Given the description of an element on the screen output the (x, y) to click on. 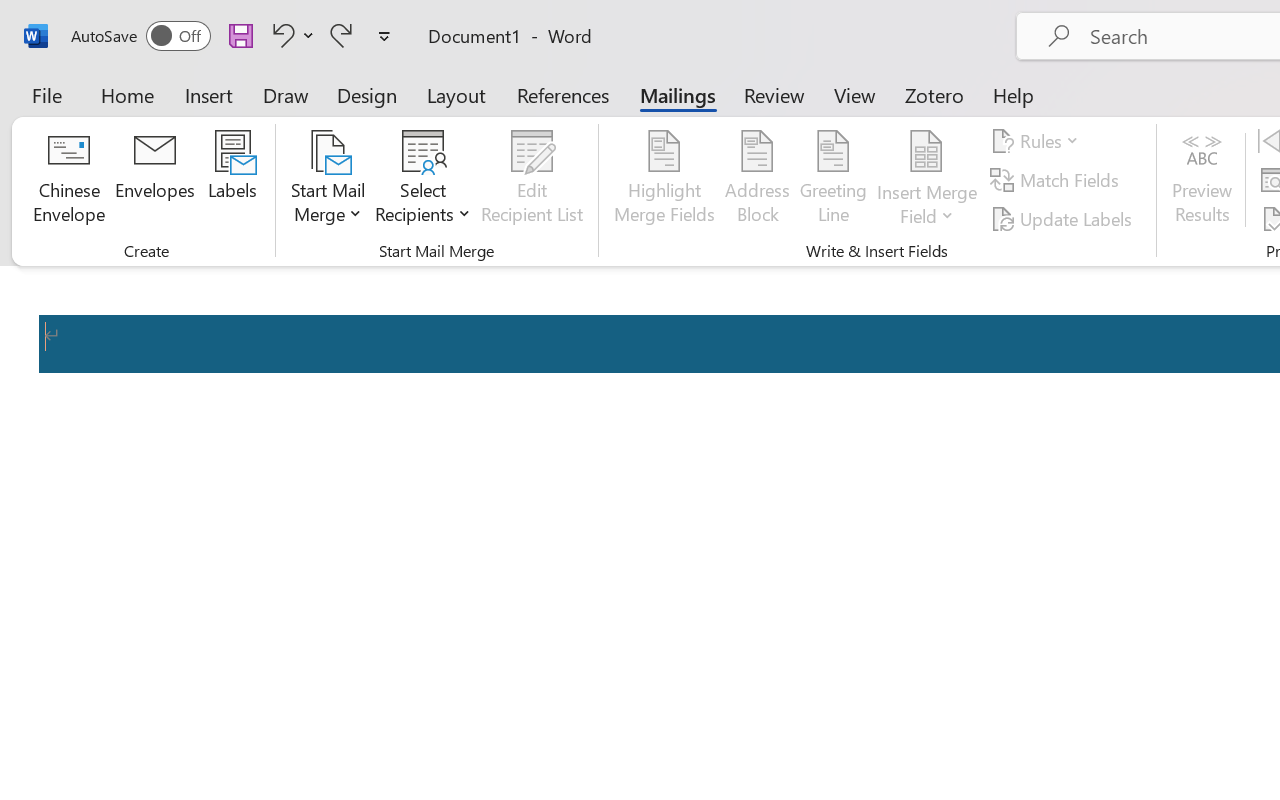
Insert Merge Field (927, 151)
Preview Results (1202, 179)
Match Fields... (1057, 179)
Edit Recipient List... (532, 179)
Redo Apply Quick Style (341, 35)
Update Labels (1064, 218)
Select Recipients (423, 179)
Highlight Merge Fields (664, 179)
Envelopes... (155, 179)
